Given the description of an element on the screen output the (x, y) to click on. 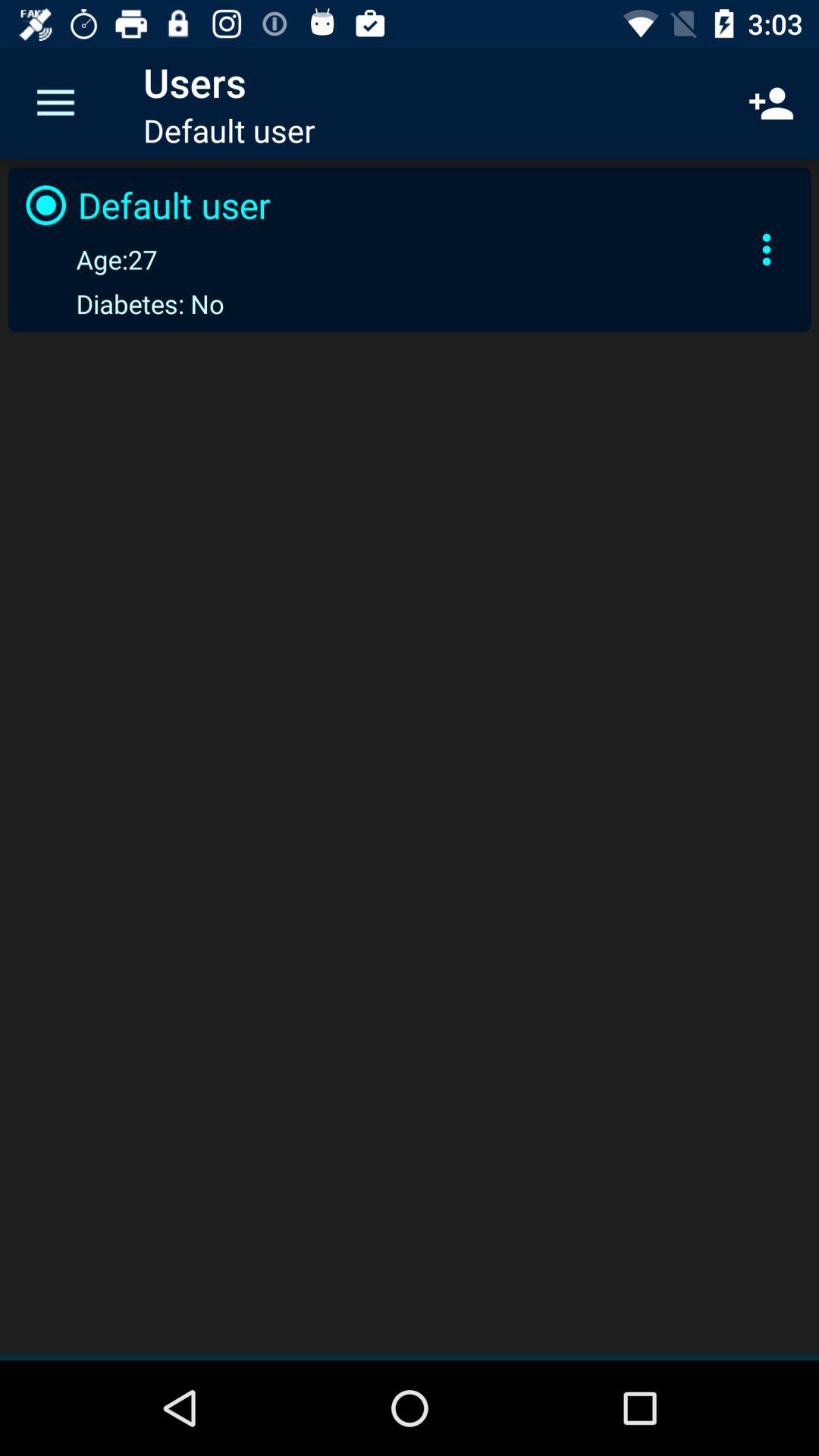
launch icon below age:27 icon (121, 303)
